Given the description of an element on the screen output the (x, y) to click on. 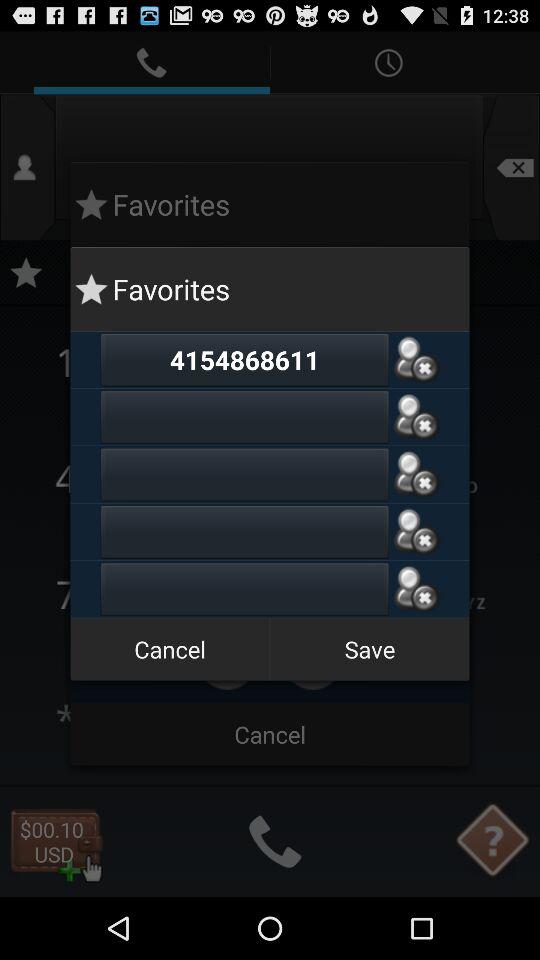
a place to enter a value (244, 589)
